Given the description of an element on the screen output the (x, y) to click on. 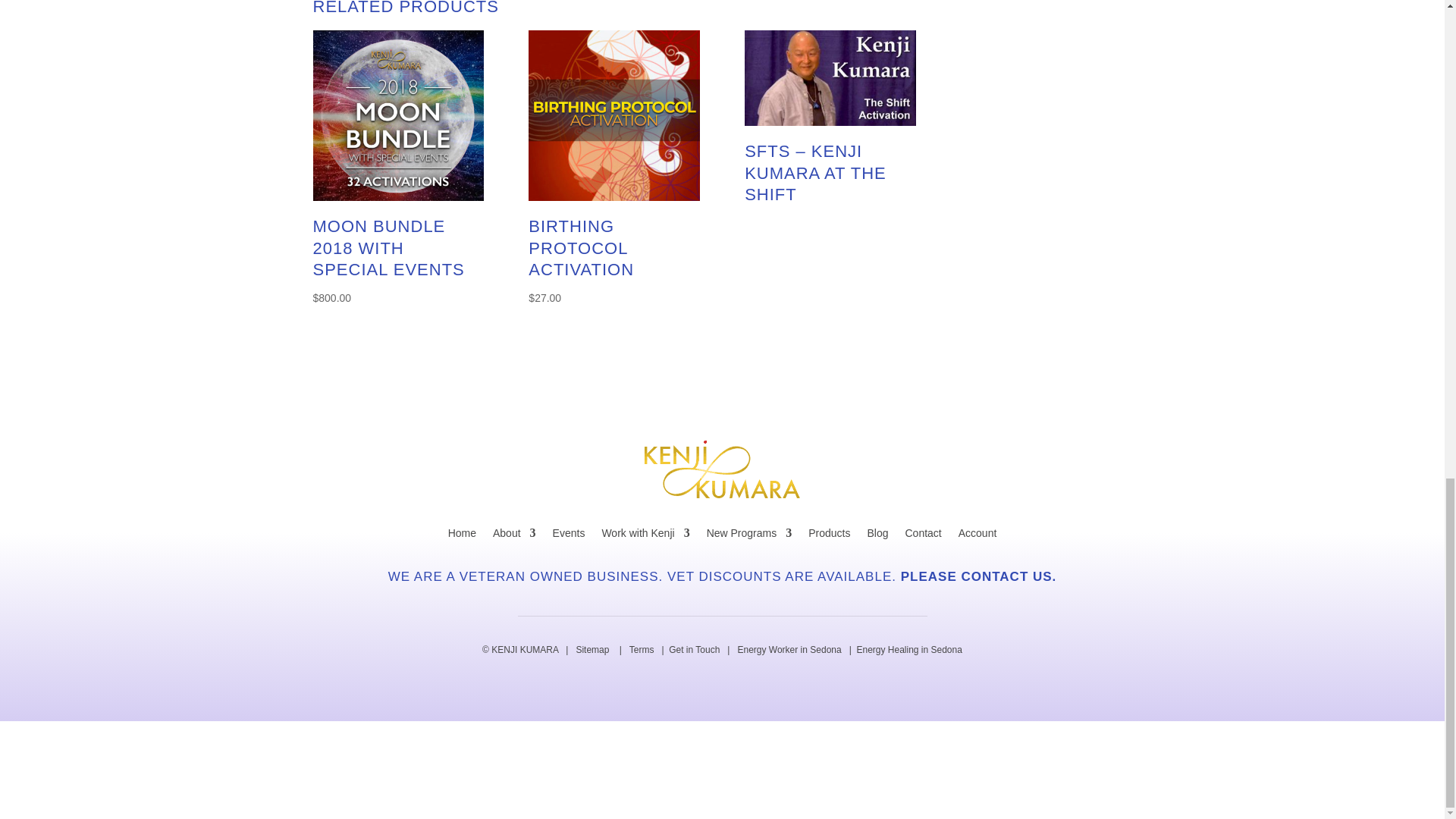
kenji-kumara-newlogo2 (722, 469)
Energy Healing in Sedona (908, 649)
Energy Worker in Sedona (788, 649)
Terms (640, 649)
Get in touch (693, 649)
